Given the description of an element on the screen output the (x, y) to click on. 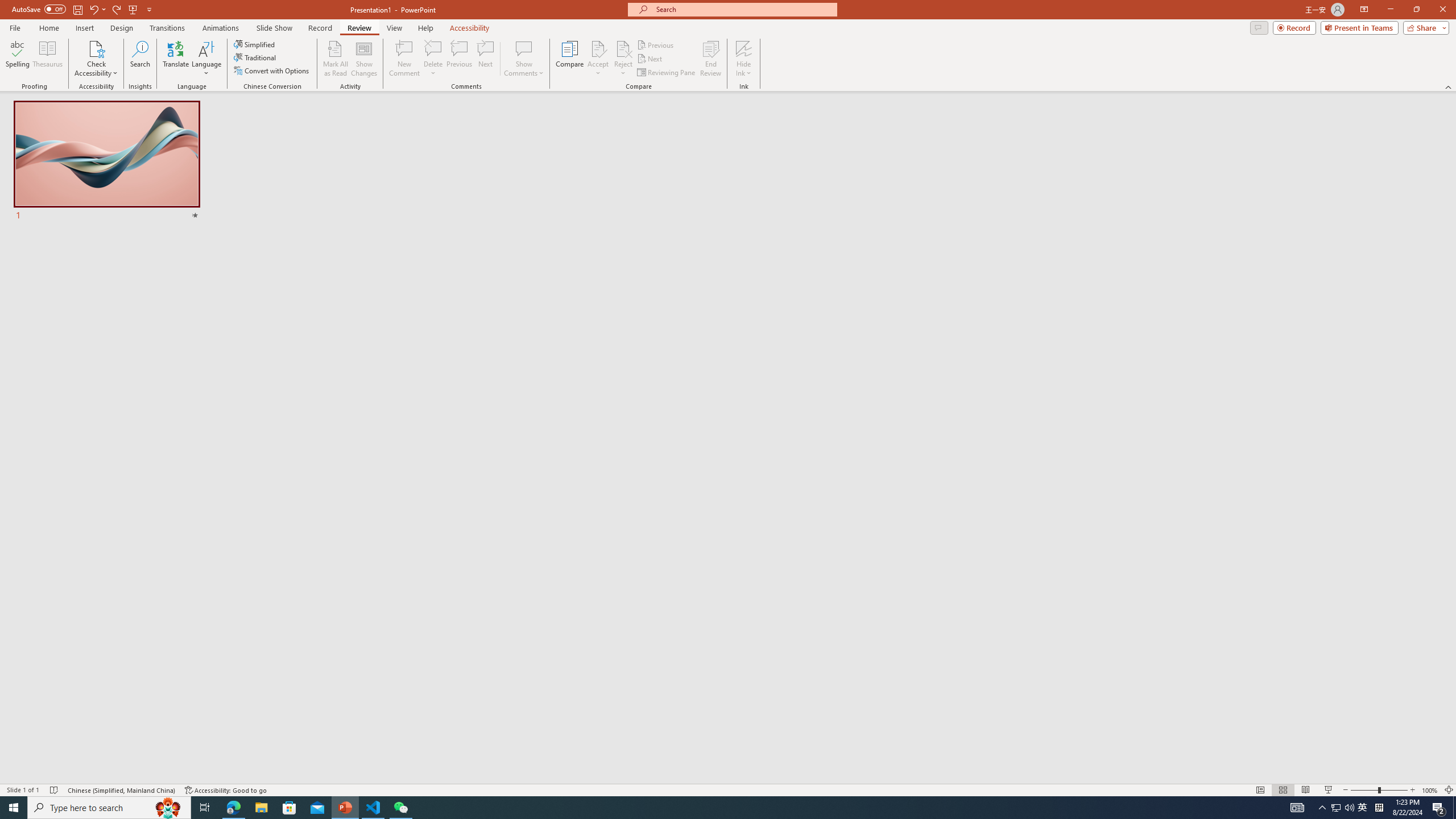
Reject Change (622, 48)
Compare (569, 58)
End Review (710, 58)
Show Changes (363, 58)
Reviewing Pane (666, 72)
New Comment (403, 58)
